Given the description of an element on the screen output the (x, y) to click on. 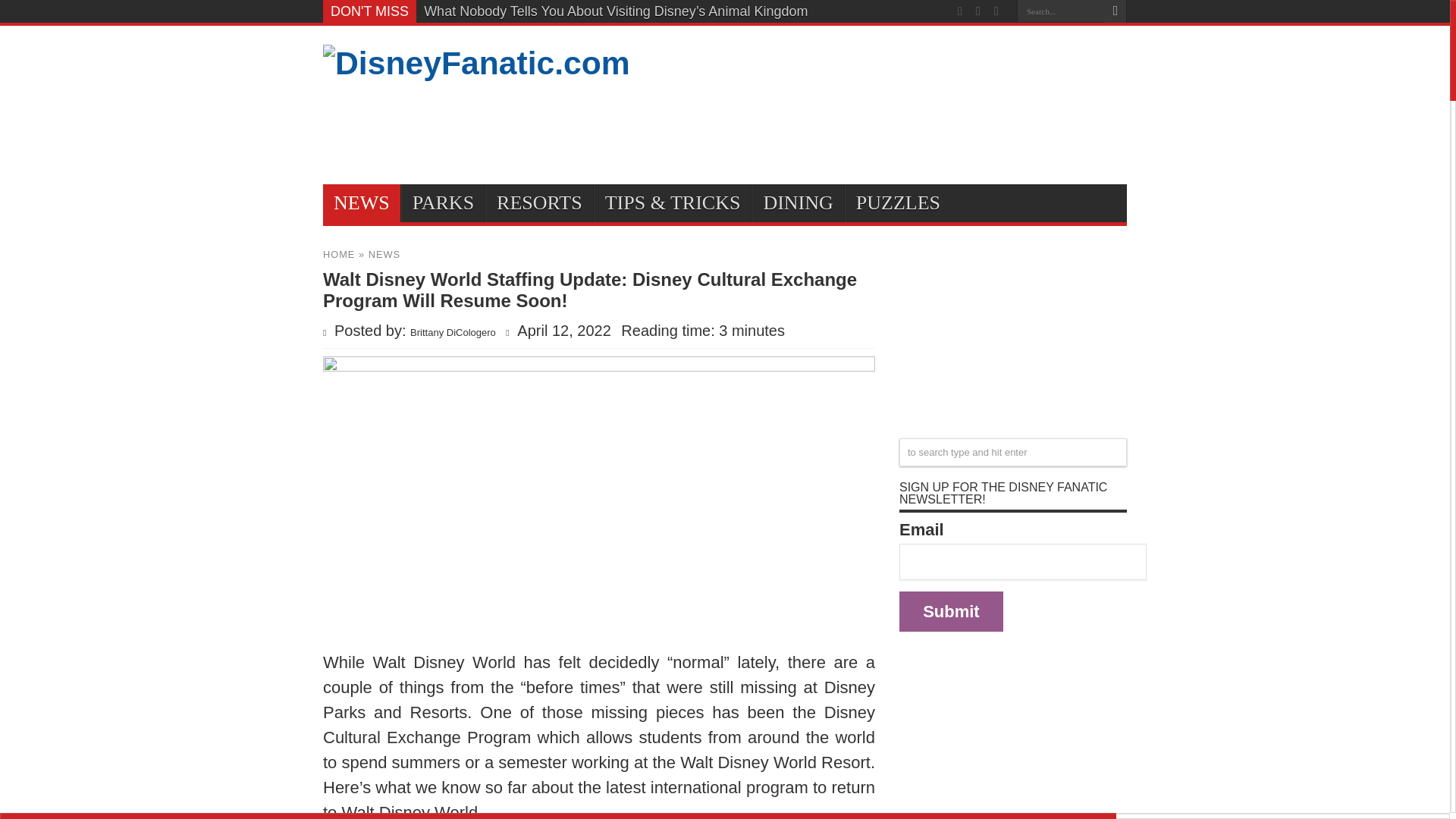
PARKS (442, 202)
Search (1114, 11)
PUZZLES (897, 202)
NEWS (384, 254)
Brittany DiCologero (453, 332)
to search type and hit enter (1012, 452)
RESORTS (538, 202)
Search... (1059, 11)
NEWS (361, 202)
DINING (797, 202)
DisneyFanatic.com (476, 63)
HOME (339, 254)
